Given the description of an element on the screen output the (x, y) to click on. 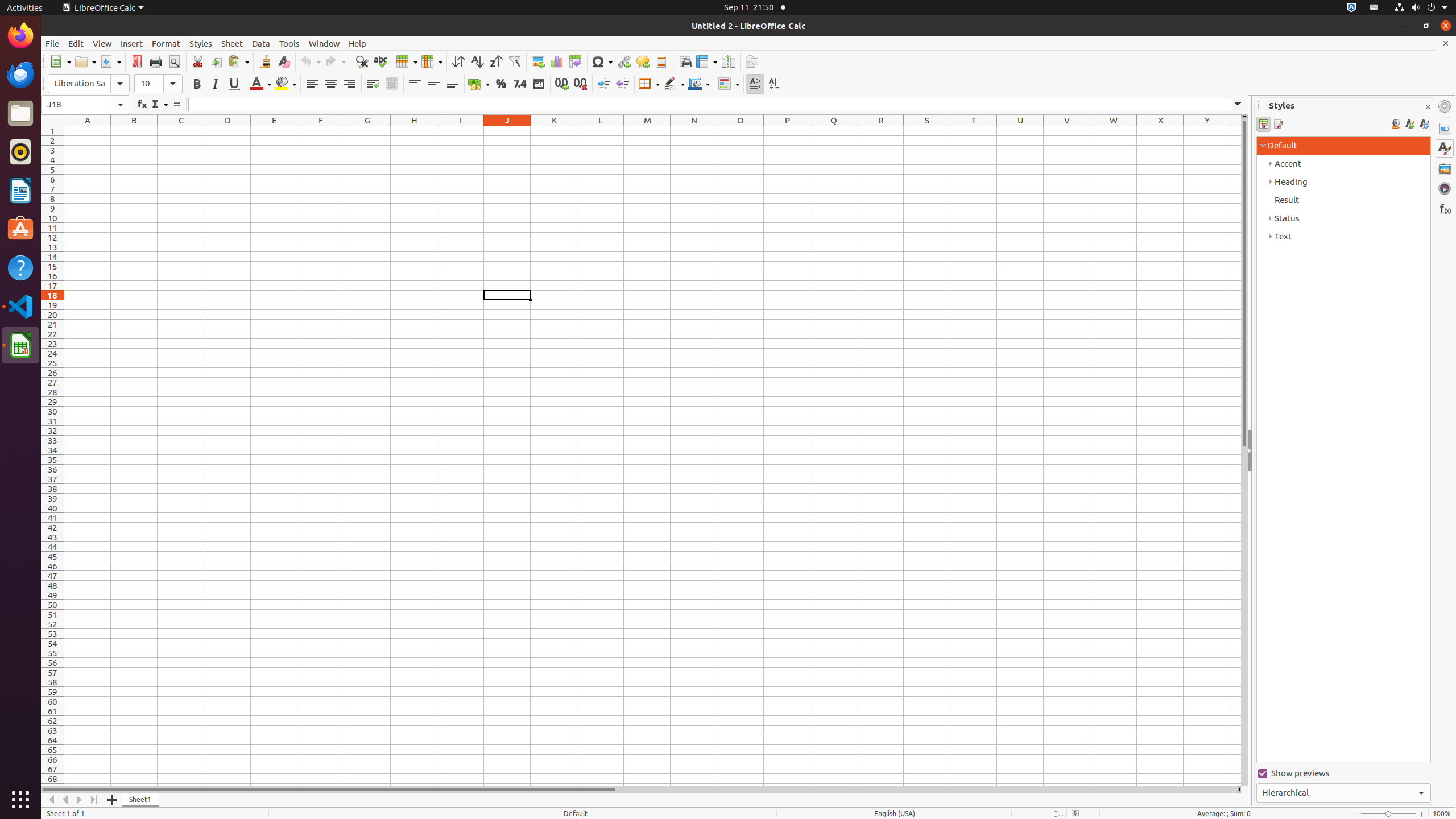
Merge and Center Cells Element type: push-button (391, 83)
E1 Element type: table-cell (273, 130)
Clone Element type: push-button (264, 61)
IsaHelpMain.desktop Element type: label (75, 170)
I1 Element type: table-cell (460, 130)
